Given the description of an element on the screen output the (x, y) to click on. 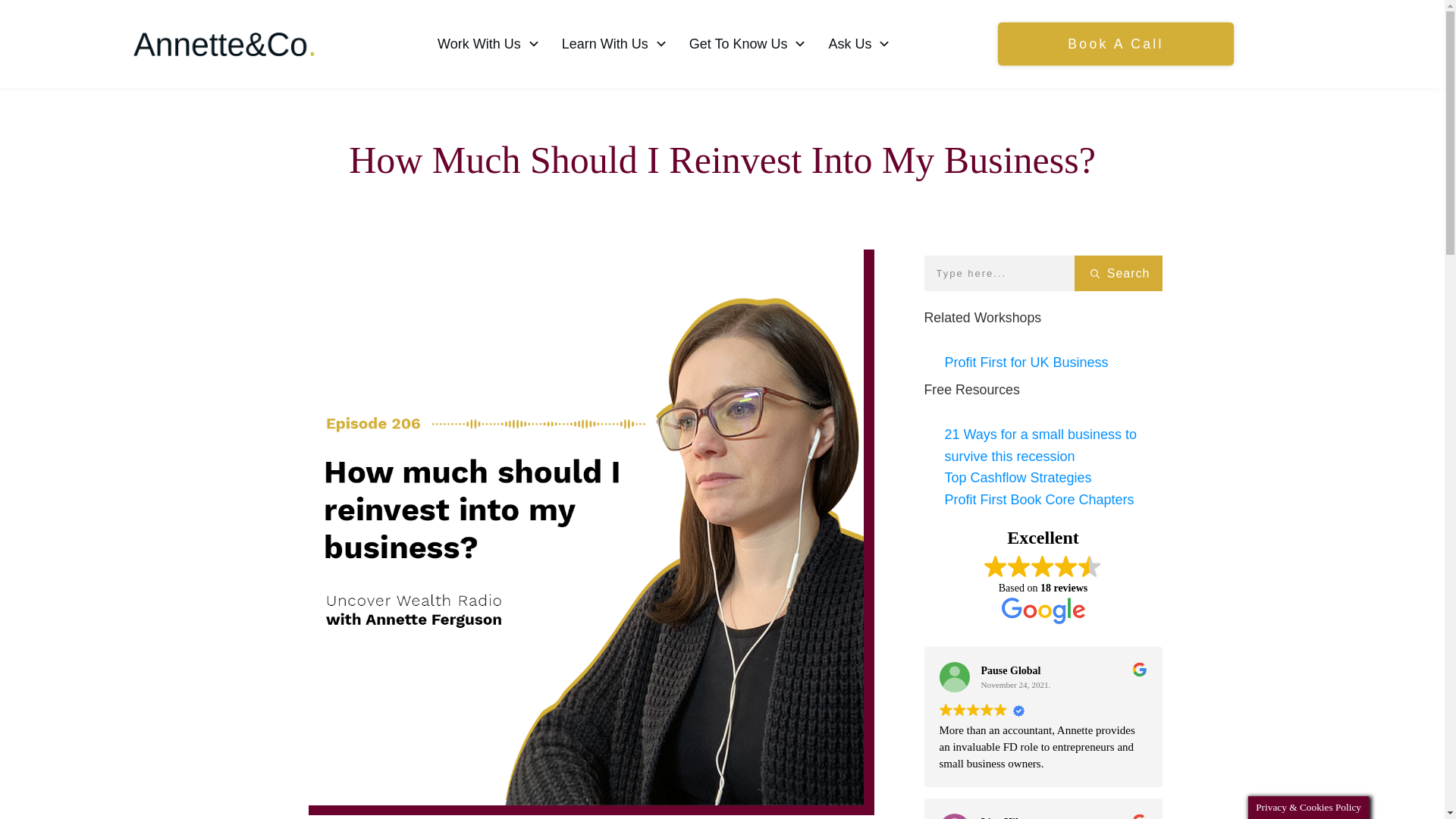
Ask Us (859, 43)
Search (1117, 273)
How Much Should I Reinvest Into My Business? (722, 159)
21 Ways for a small business to survive this recession (1040, 445)
Learn With Us (615, 43)
Get To Know Us (748, 43)
Work With Us (489, 43)
How Much Should I Reinvest Into My Business? (722, 159)
Book A Call (1104, 42)
Profit First for UK Business (1026, 362)
Top Cashflow Strategies (1018, 477)
